Given the description of an element on the screen output the (x, y) to click on. 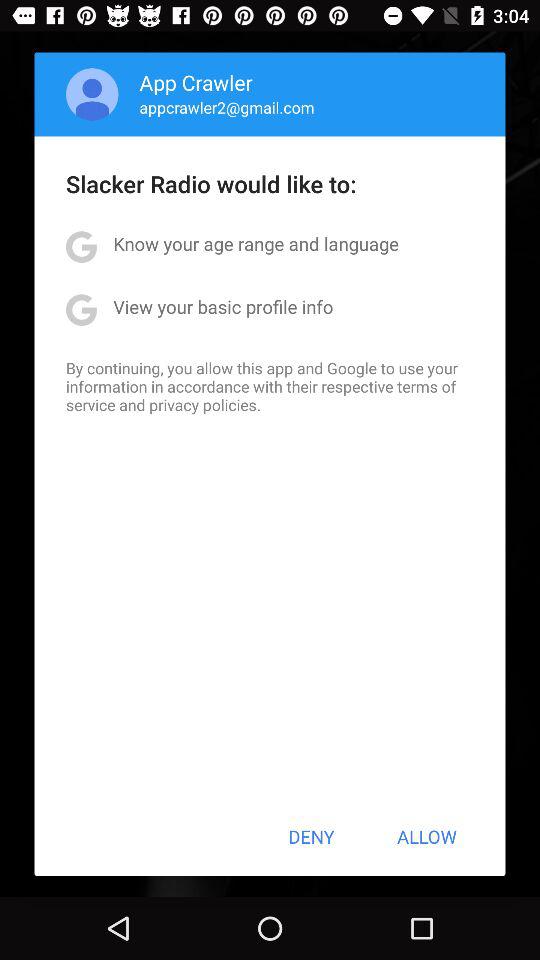
turn off the icon to the left of the allow item (311, 836)
